Given the description of an element on the screen output the (x, y) to click on. 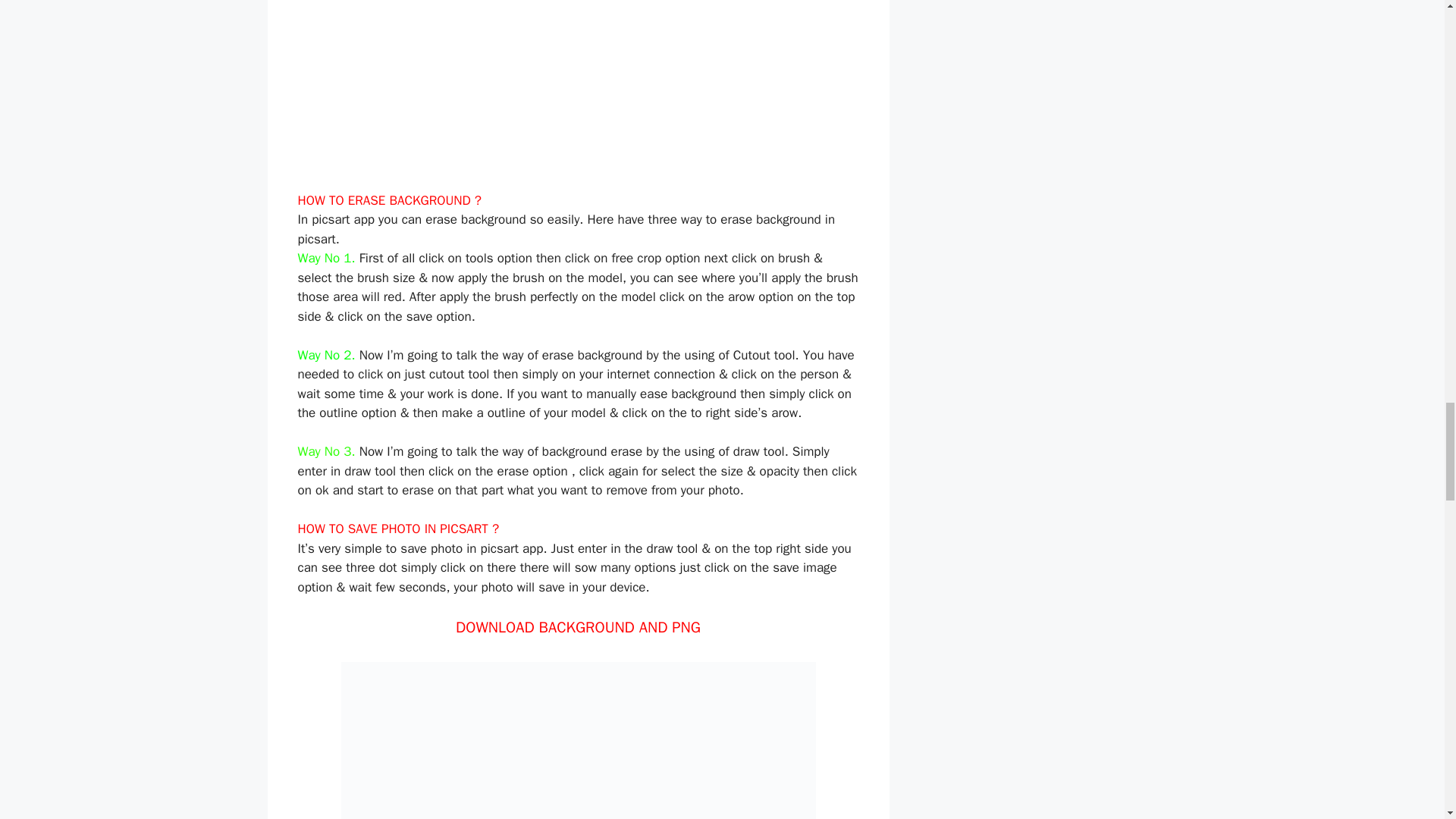
Advertisement (578, 95)
